Given the description of an element on the screen output the (x, y) to click on. 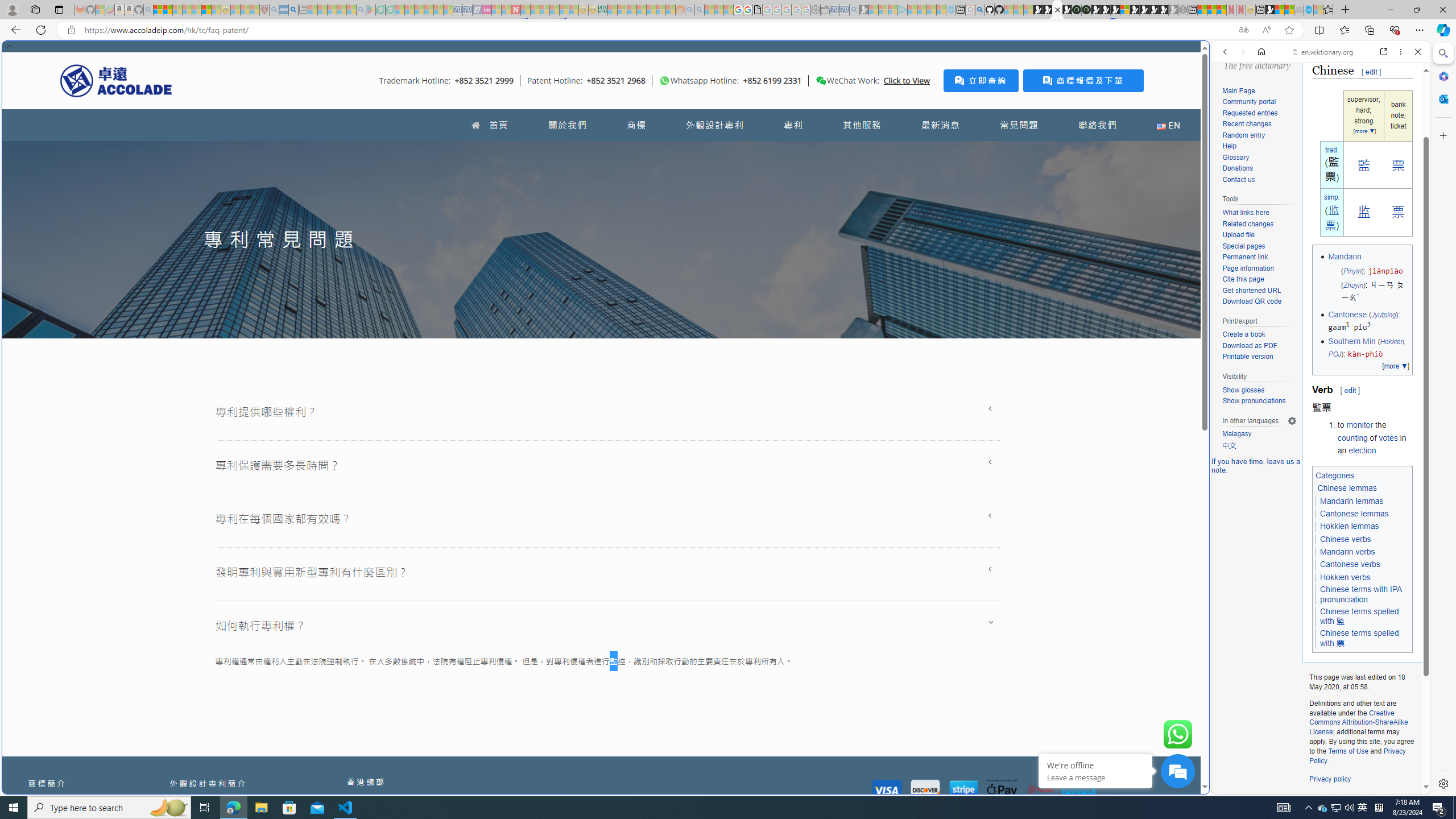
Privacy Policy. (1357, 755)
Malagasy (1236, 433)
Play Zoo Boom in your browser | Games from Microsoft Start (1047, 9)
Donations (1259, 168)
Related changes (1247, 223)
